Given the description of an element on the screen output the (x, y) to click on. 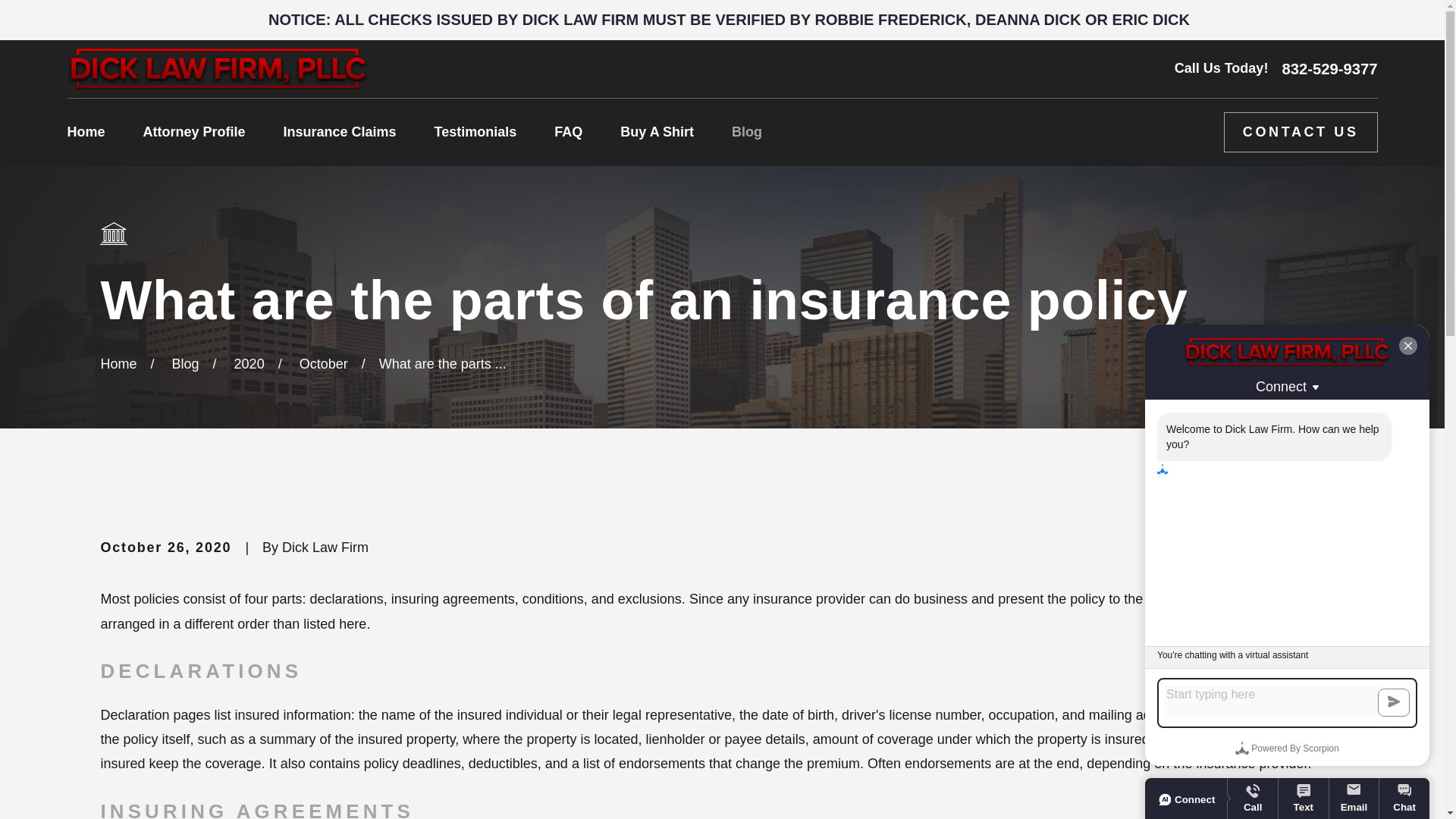
Insurance Claims (339, 132)
Home (217, 68)
Attorney Profile (194, 132)
Home (85, 132)
Testimonials (474, 132)
Buy A Shirt (657, 132)
832-529-9377 (1329, 68)
Go Home (118, 363)
